Given the description of an element on the screen output the (x, y) to click on. 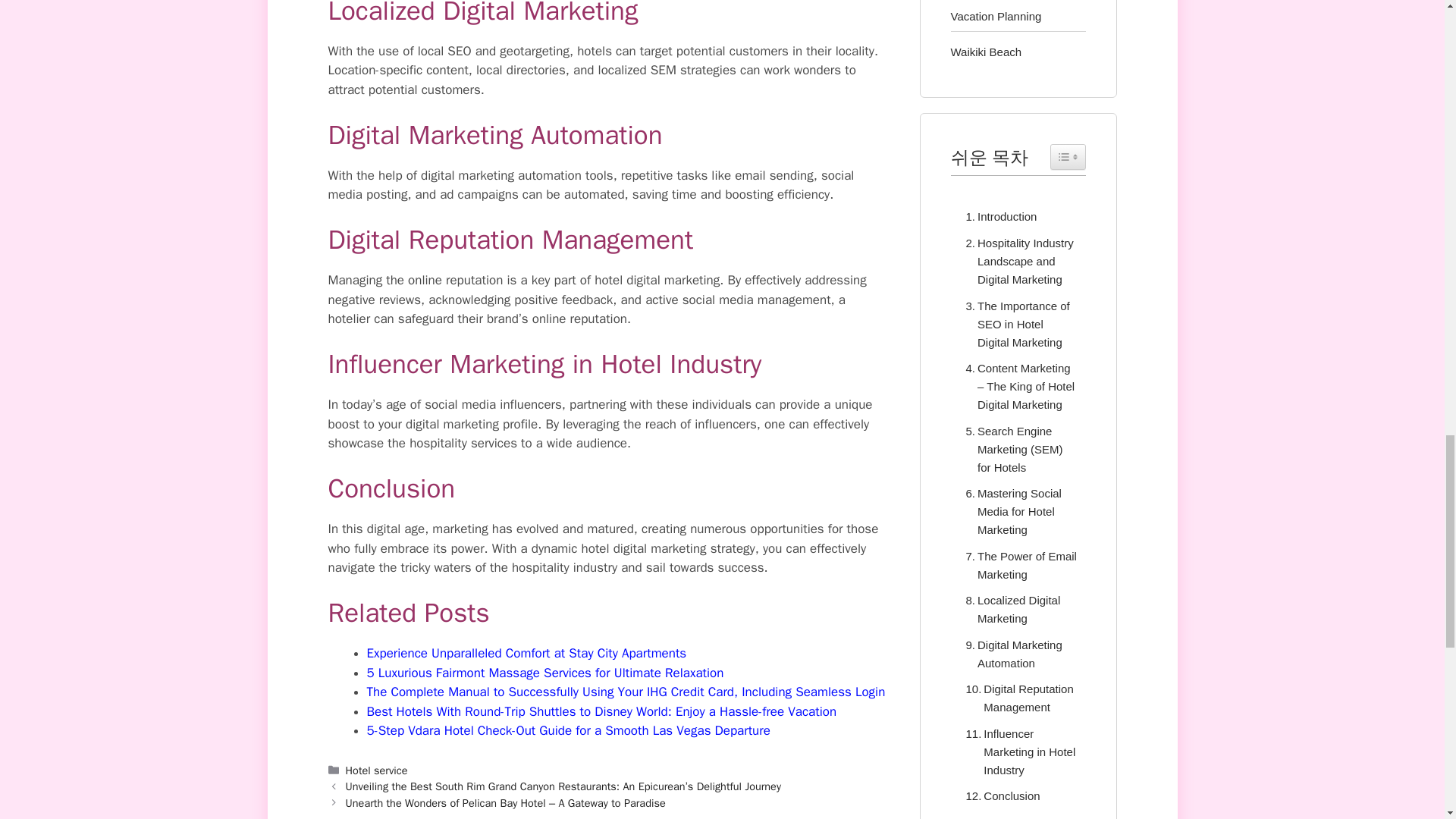
Experience Unparalleled Comfort at Stay City Apartments (526, 652)
Introduction (997, 217)
Hotel service (376, 770)
Hospitality Industry Landscape and Digital Marketing (1018, 261)
